Given the description of an element on the screen output the (x, y) to click on. 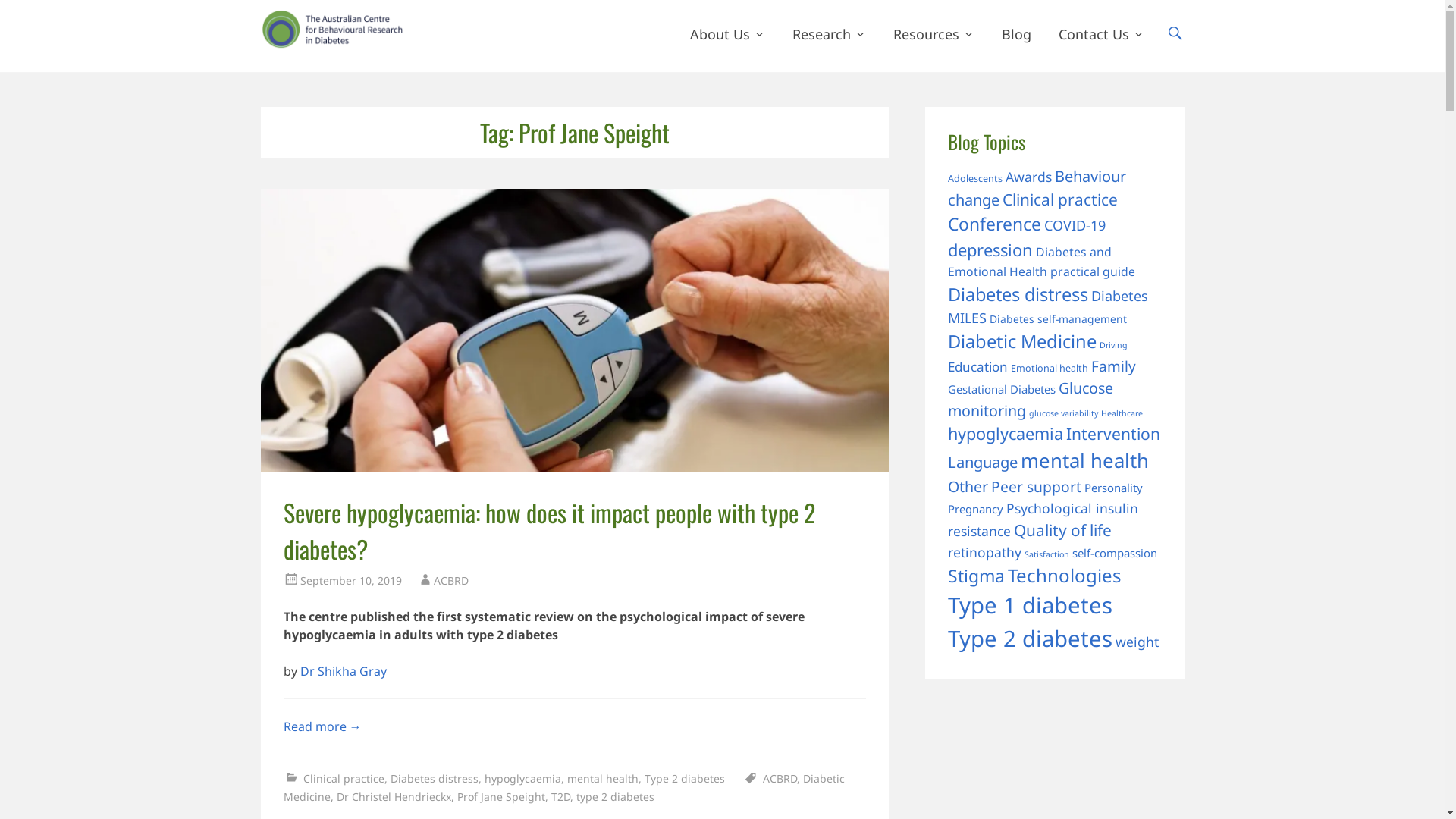
T2D Element type: text (559, 796)
Adolescents Element type: text (974, 178)
Gestational Diabetes Element type: text (1001, 388)
Diabetes MILES Element type: text (1047, 306)
Dr Shikha Gray Element type: text (343, 670)
mental health Element type: text (602, 778)
Prof Jane Speight Element type: text (500, 796)
self-compassion Element type: text (1114, 552)
Clinical practice Element type: text (1059, 199)
Stigma Element type: text (975, 575)
Diabetes and Emotional Health practical guide Element type: text (1041, 261)
Technologies Element type: text (1064, 574)
Resources Element type: text (933, 34)
Skip to content Element type: text (688, 9)
Dr Christel Hendrieckx Element type: text (393, 796)
weight Element type: text (1136, 641)
Contact Us Element type: text (1100, 34)
Type 1 diabetes Element type: text (1029, 604)
Type 2 diabetes Element type: text (1029, 638)
About Us Element type: text (727, 34)
Diabetes self-management Element type: text (1057, 318)
hypoglycaemia Element type: text (1005, 433)
ACBRD Element type: text (779, 778)
September 10, 2019 Element type: text (350, 580)
Diabetic Medicine Element type: text (563, 787)
Glucose monitoring Element type: text (1030, 398)
Conference Element type: text (994, 223)
ACBRD Element type: text (454, 25)
Blog Element type: text (1015, 34)
Quality of life Element type: text (1062, 529)
Type 2 diabetes Element type: text (684, 778)
Education Element type: text (977, 366)
Psychological insulin resistance Element type: text (1042, 518)
Driving Element type: text (1113, 344)
Diabetic Medicine Element type: text (1021, 341)
depression Element type: text (989, 249)
Language Element type: text (982, 461)
ACBRD Element type: text (450, 580)
Satisfaction Element type: text (1046, 554)
type 2 diabetes Element type: text (615, 796)
Research Element type: text (828, 34)
Emotional health Element type: text (1049, 367)
retinopathy Element type: text (984, 551)
COVID-19 Element type: text (1074, 225)
Diabetes distress Element type: text (433, 778)
mental health Element type: text (1084, 460)
Peer support Element type: text (1036, 486)
Family Element type: text (1113, 366)
Awards Element type: text (1028, 176)
Behaviour change Element type: text (1036, 188)
Other Element type: text (967, 486)
hypoglycaemia Element type: text (521, 778)
Healthcare Element type: text (1121, 412)
Diabetes distress Element type: text (1017, 294)
Clinical practice Element type: text (343, 778)
glucose variability Element type: text (1063, 412)
Pregnancy Element type: text (975, 508)
Personality Element type: text (1113, 487)
Intervention Element type: text (1113, 433)
